Given the description of an element on the screen output the (x, y) to click on. 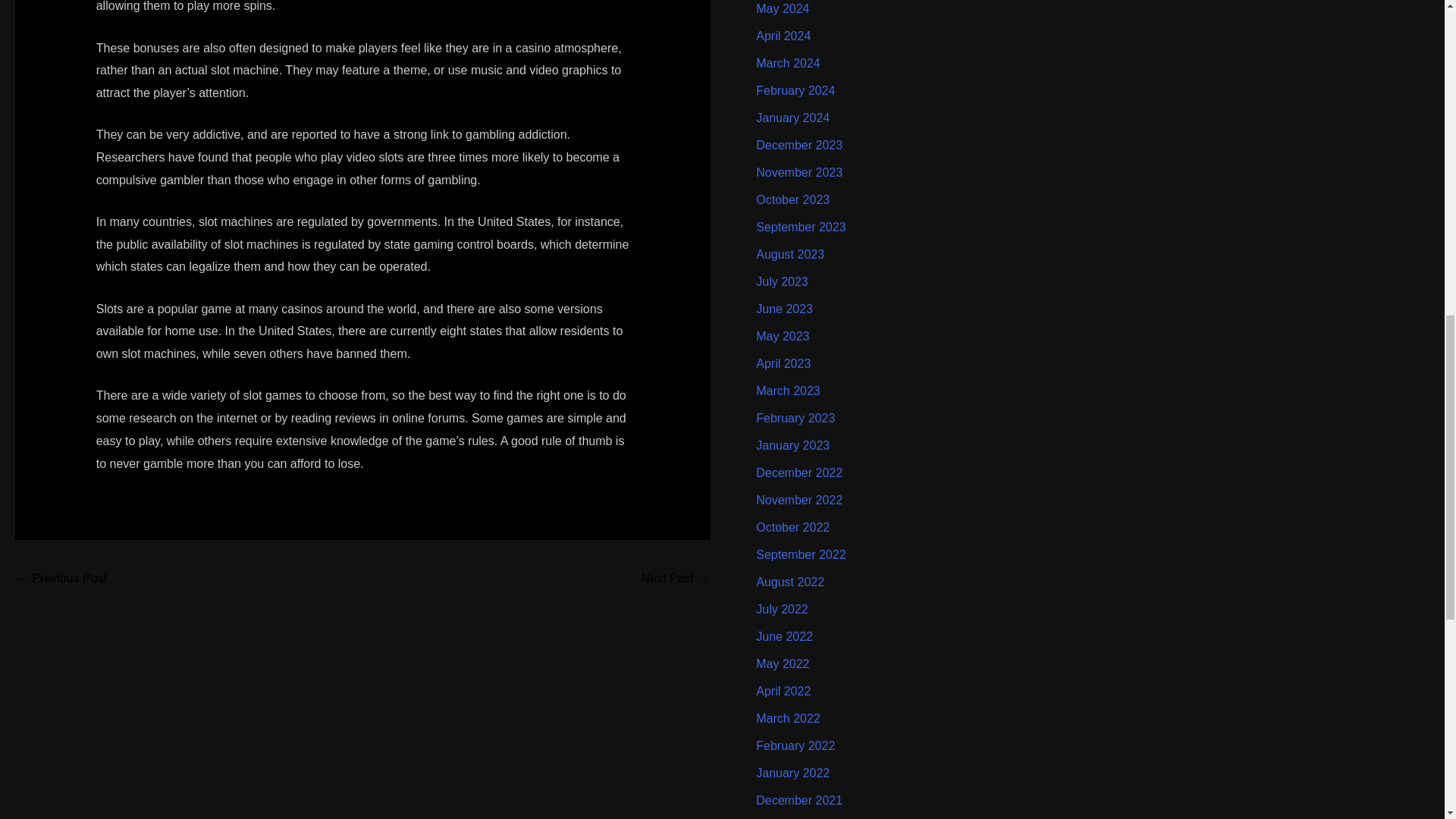
February 2024 (794, 90)
November 2022 (799, 499)
May 2024 (782, 8)
July 2023 (781, 281)
May 2023 (782, 336)
April 2023 (782, 363)
December 2023 (799, 144)
September 2023 (800, 226)
April 2024 (782, 35)
January 2024 (792, 117)
February 2023 (794, 418)
October 2022 (792, 526)
March 2023 (788, 390)
September 2022 (800, 554)
January 2023 (792, 445)
